Given the description of an element on the screen output the (x, y) to click on. 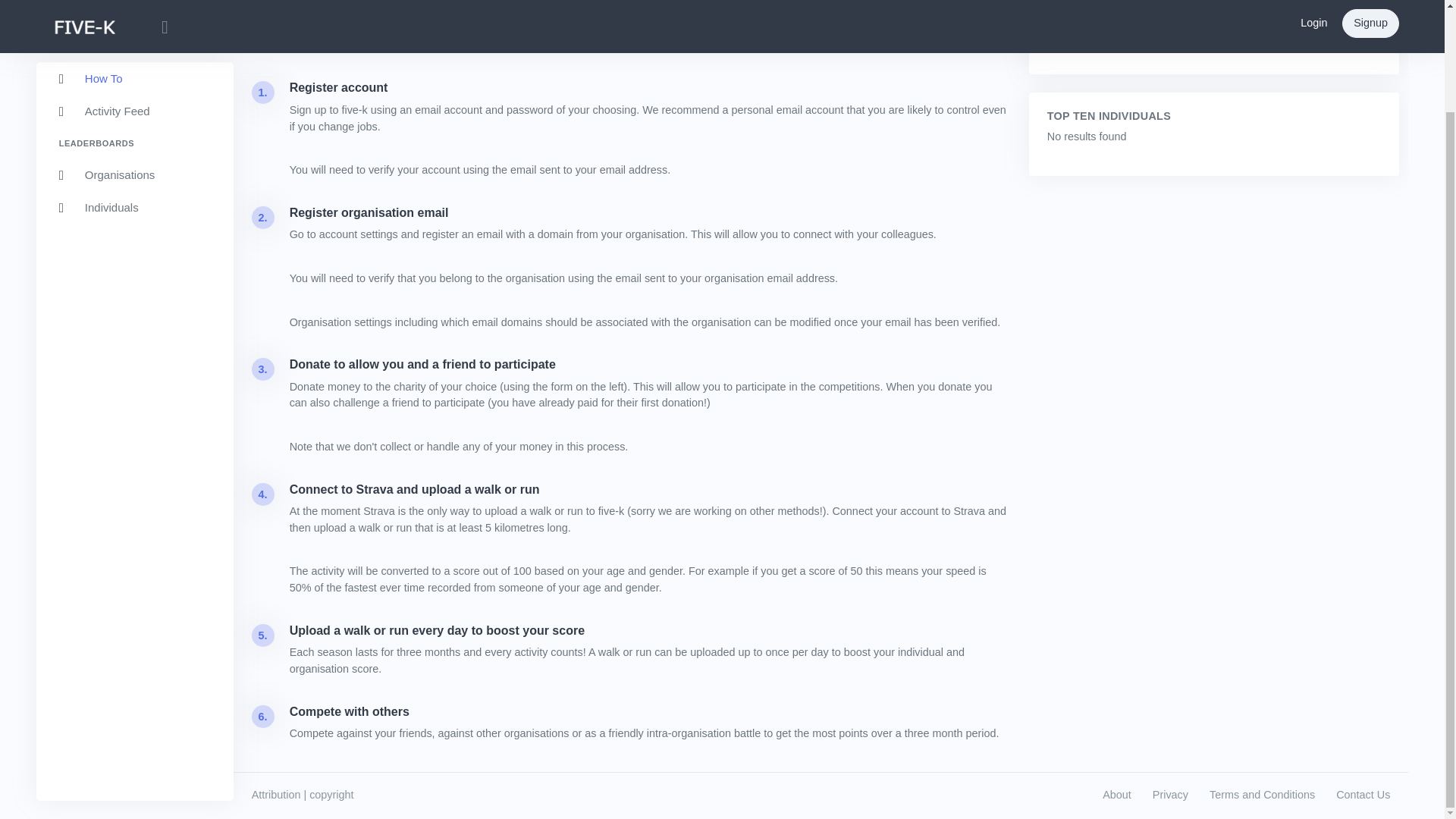
Contact Us (1363, 794)
Activity Feed (134, 4)
Individuals (134, 88)
Organisations (134, 56)
Terms and Conditions (1261, 794)
About (1116, 794)
Privacy (1170, 794)
